Given the description of an element on the screen output the (x, y) to click on. 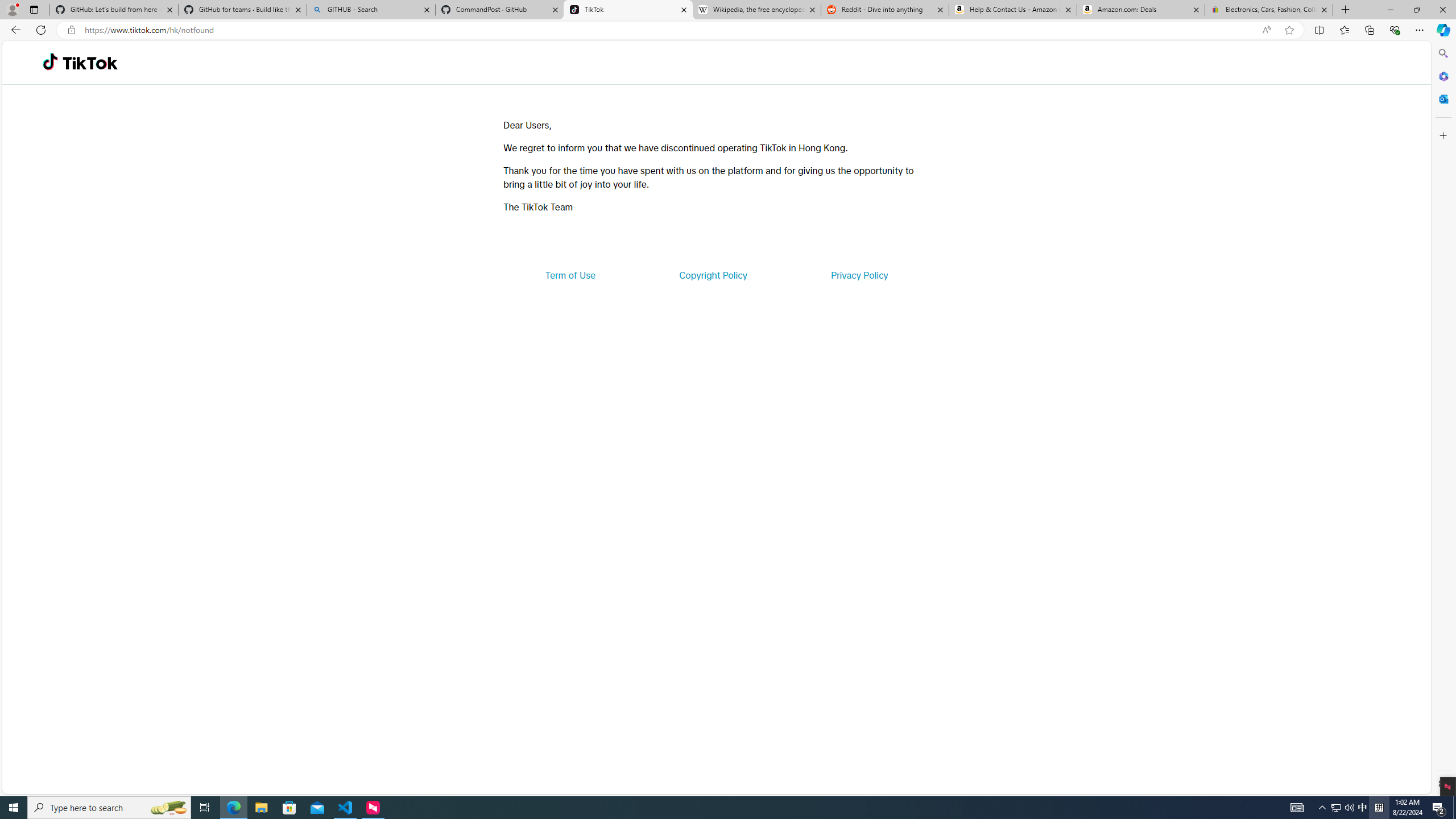
Term of Use (569, 274)
Wikipedia, the free encyclopedia (756, 9)
Amazon.com: Deals (1140, 9)
Copyright Policy (712, 274)
TikTok (628, 9)
Privacy Policy (858, 274)
GITHUB - Search (370, 9)
